Given the description of an element on the screen output the (x, y) to click on. 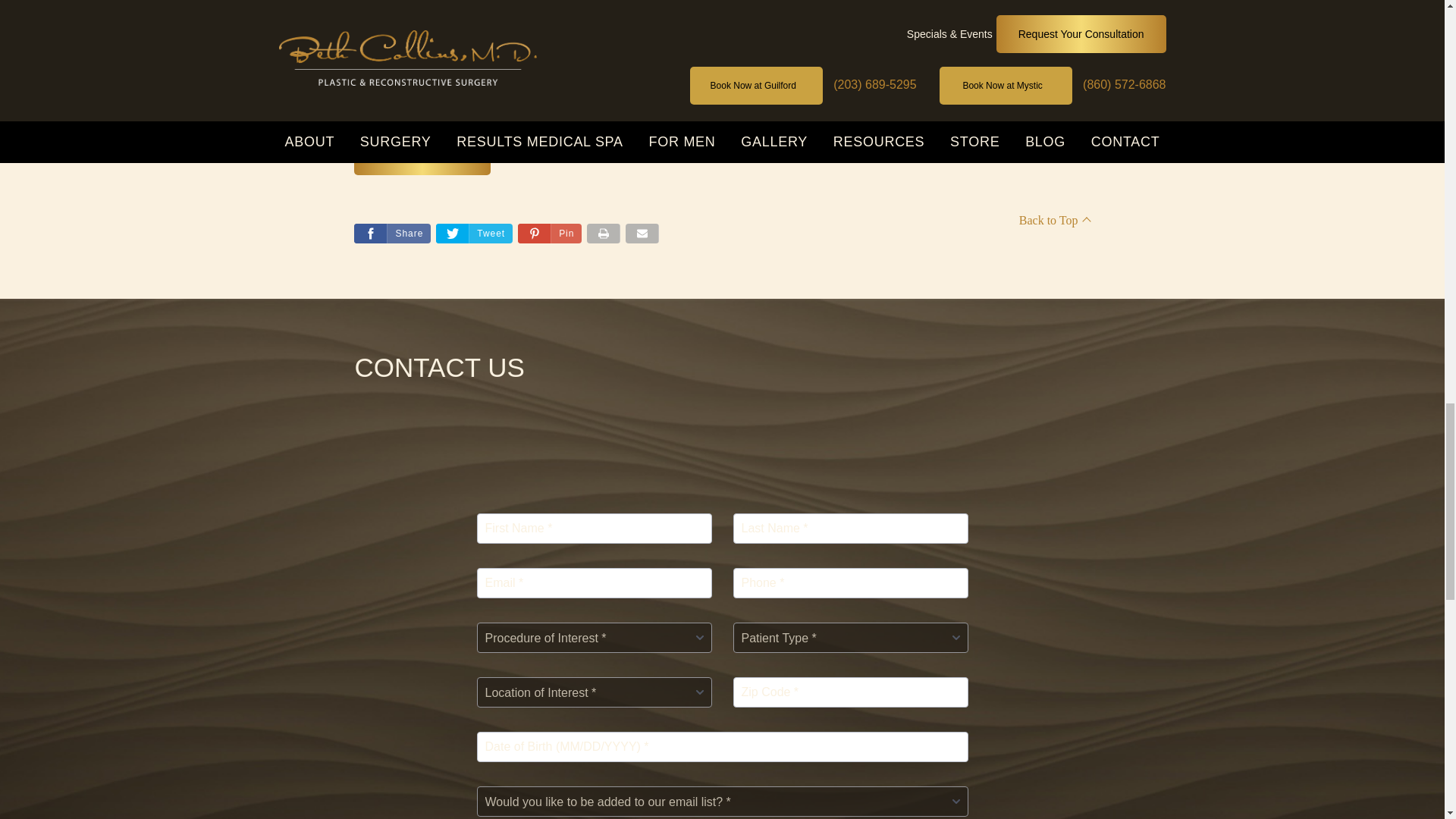
Post Comment (421, 156)
